Given the description of an element on the screen output the (x, y) to click on. 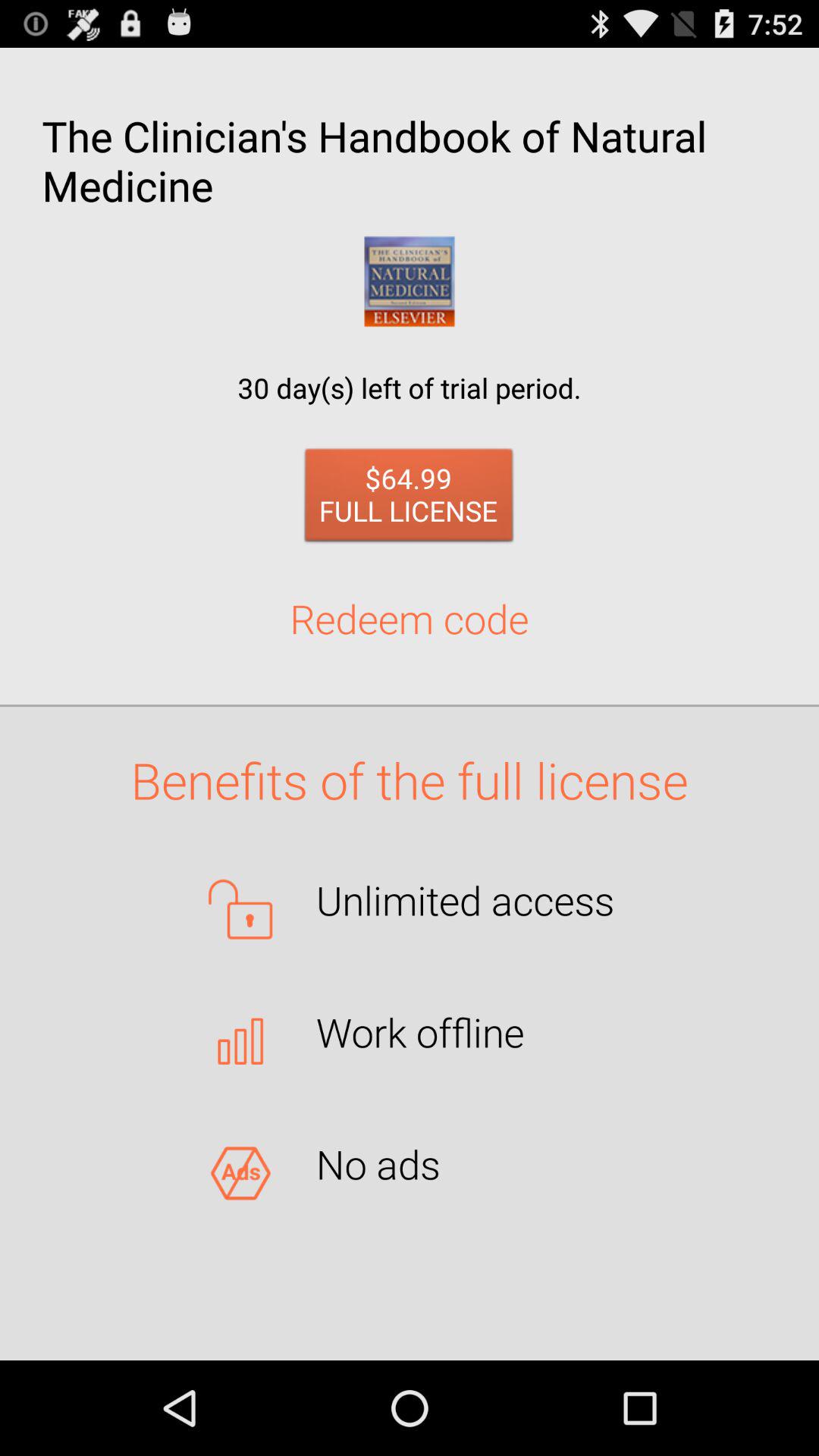
choose the redeem code app (409, 618)
